Given the description of an element on the screen output the (x, y) to click on. 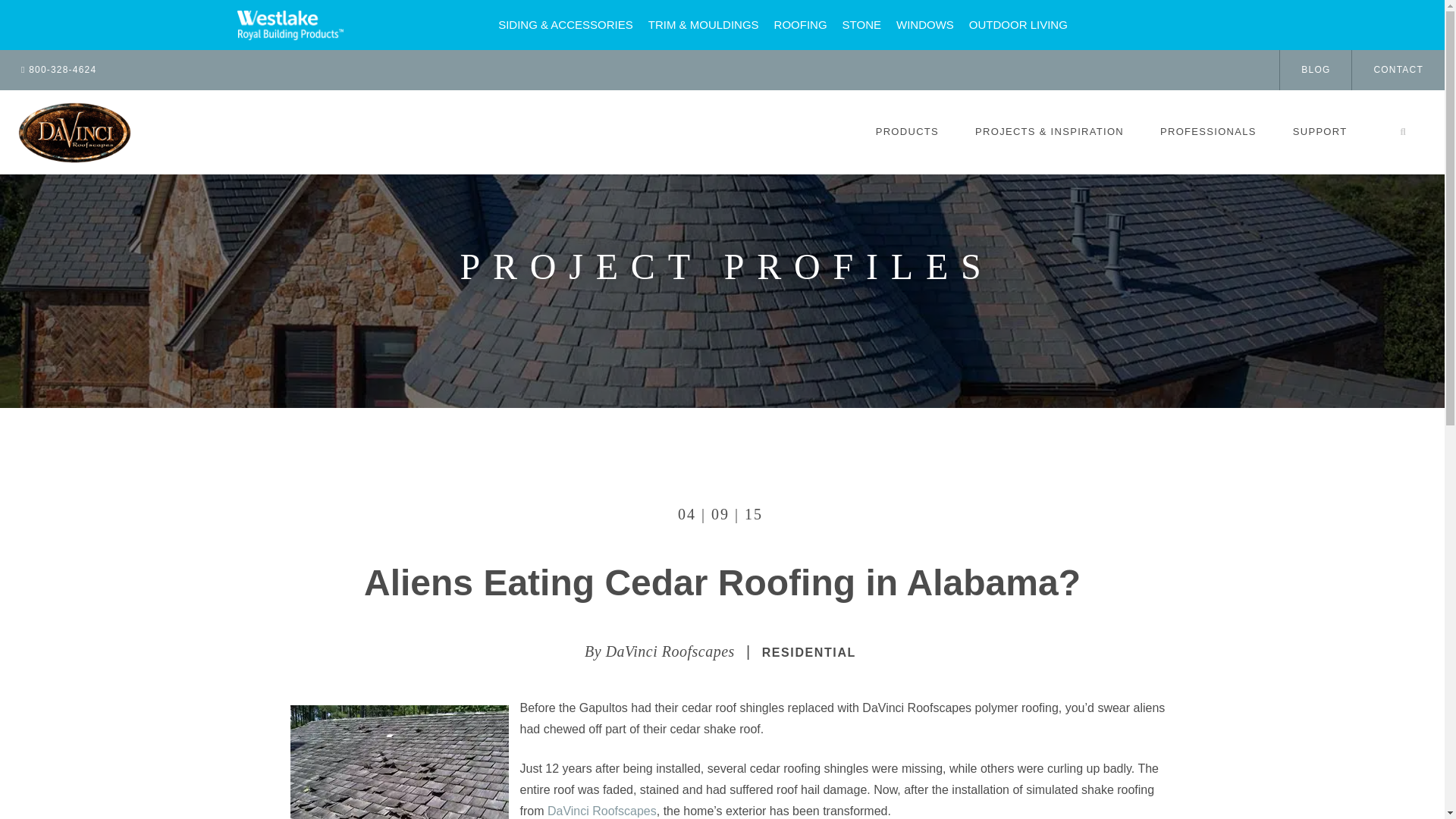
OUTDOOR LIVING (1017, 24)
WINDOWS (924, 24)
STONE (861, 24)
ROOFING (800, 24)
BLOG (1315, 69)
Posts by DaVinci Roofscapes (670, 651)
Project Profiles (726, 266)
PRODUCTS (906, 132)
